Given the description of an element on the screen output the (x, y) to click on. 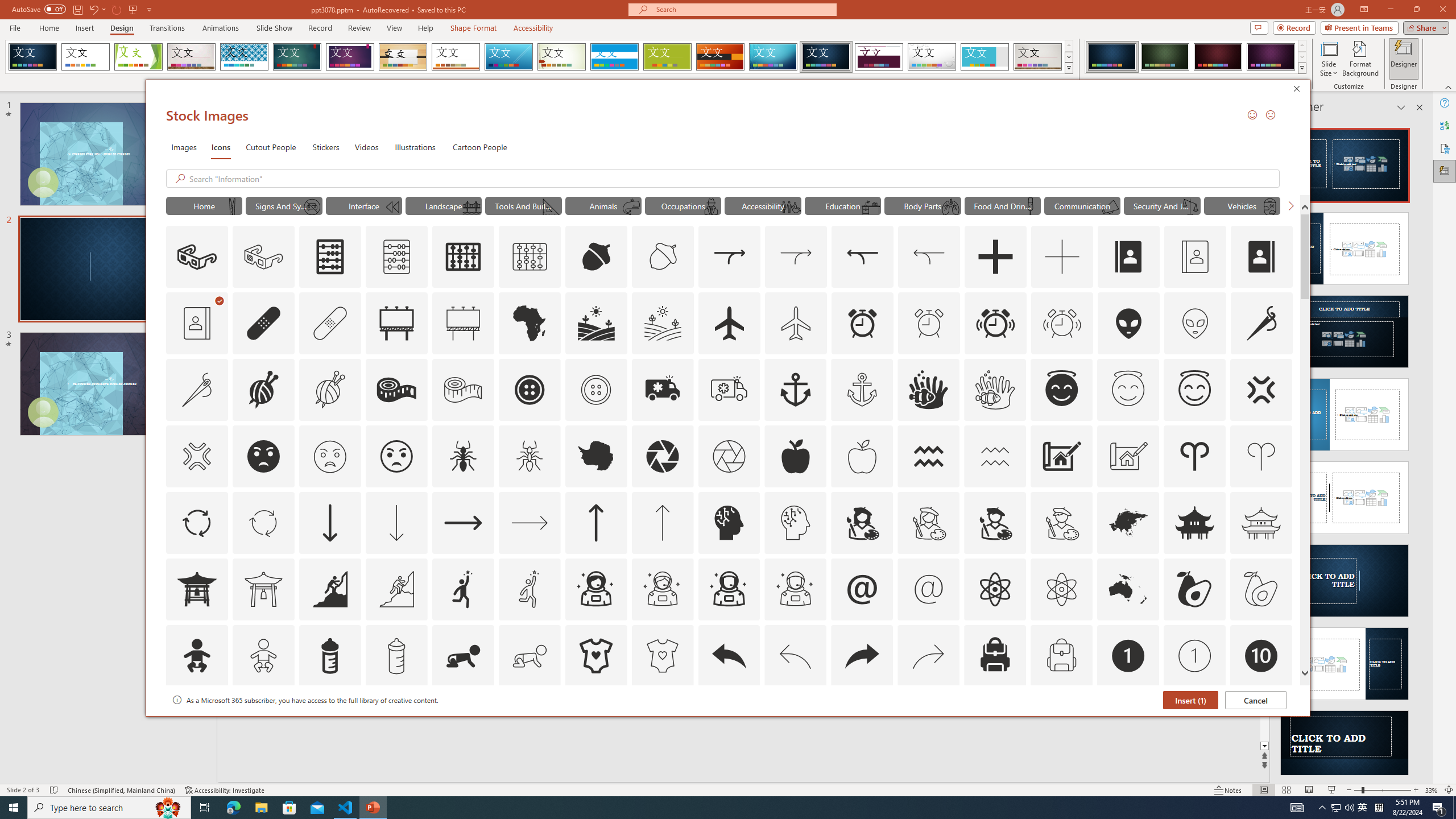
Cutout People (271, 146)
AutomationID: _134_Angel_Face_A (1061, 388)
"Vehicles" Icons. (1241, 205)
AutomationID: Icons_Badge8_M (1128, 721)
AutomationID: Icons_AstronautFemale (595, 588)
AutomationID: Icons_3dGlasses_M (263, 256)
AutomationID: Icons_AlterationsTailoring1 (263, 389)
AutomationID: Icons_AngryFace (263, 455)
AutomationID: Icons_Apple_M (861, 455)
